Given the description of an element on the screen output the (x, y) to click on. 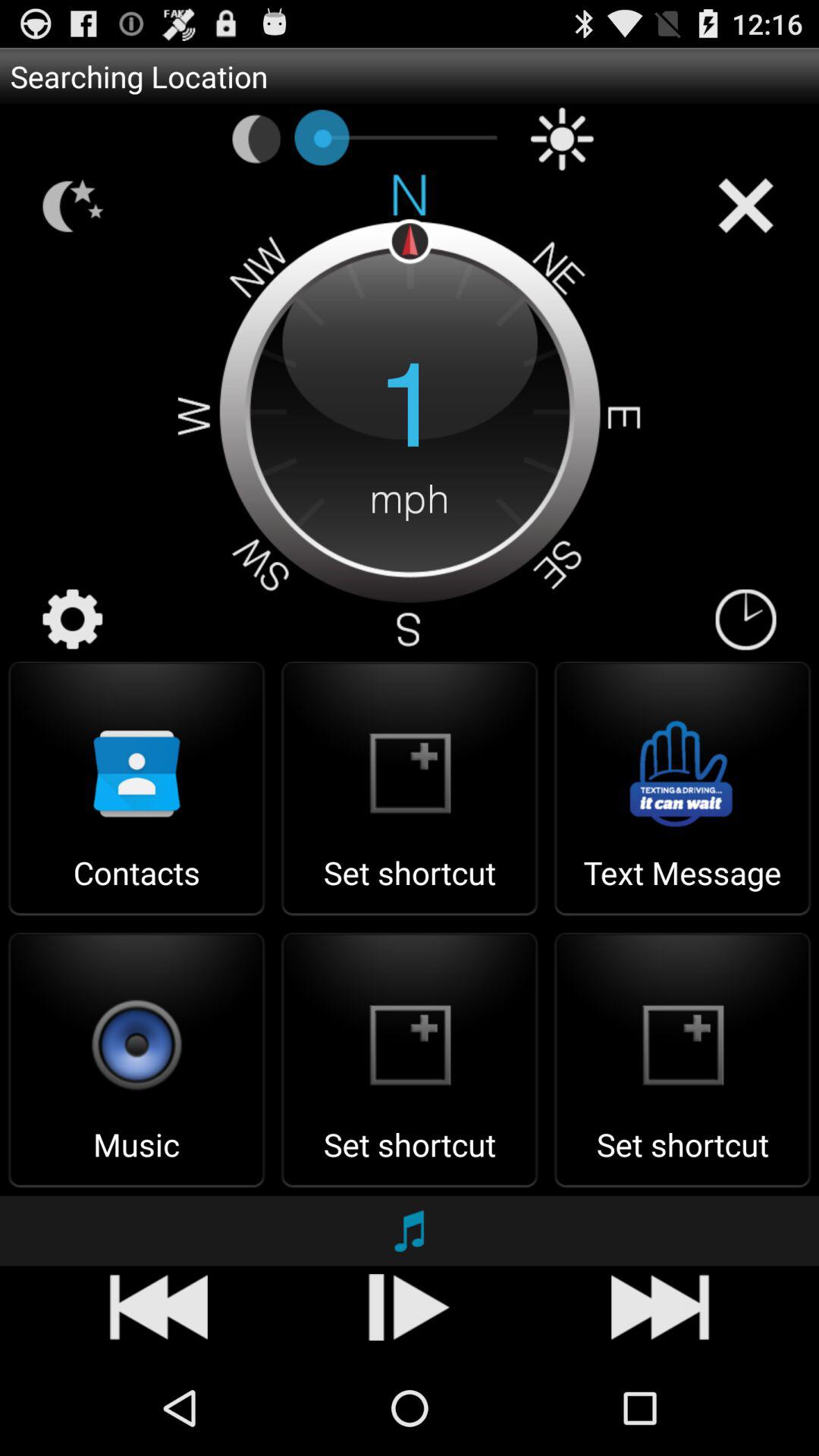
select the contacts item (136, 887)
